Given the description of an element on the screen output the (x, y) to click on. 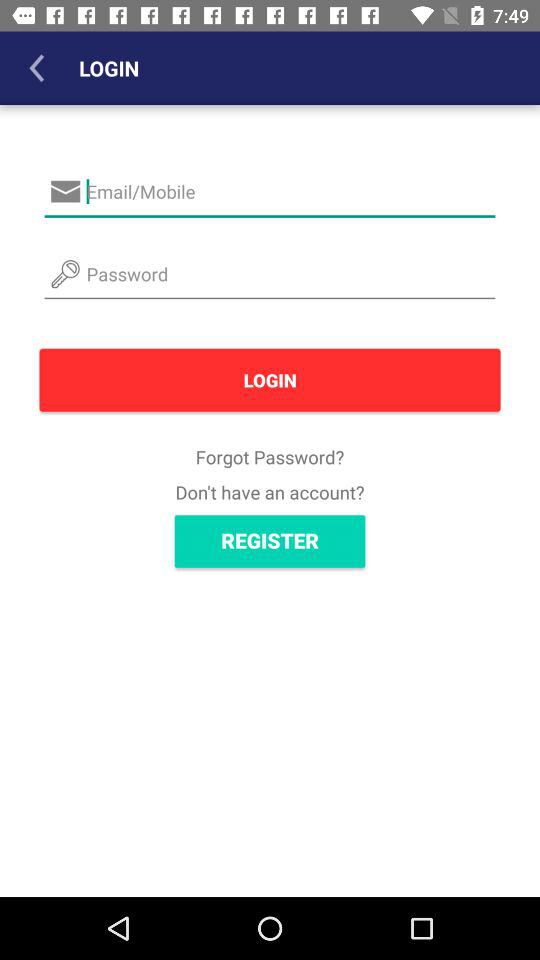
launch forgot password? (269, 456)
